Given the description of an element on the screen output the (x, y) to click on. 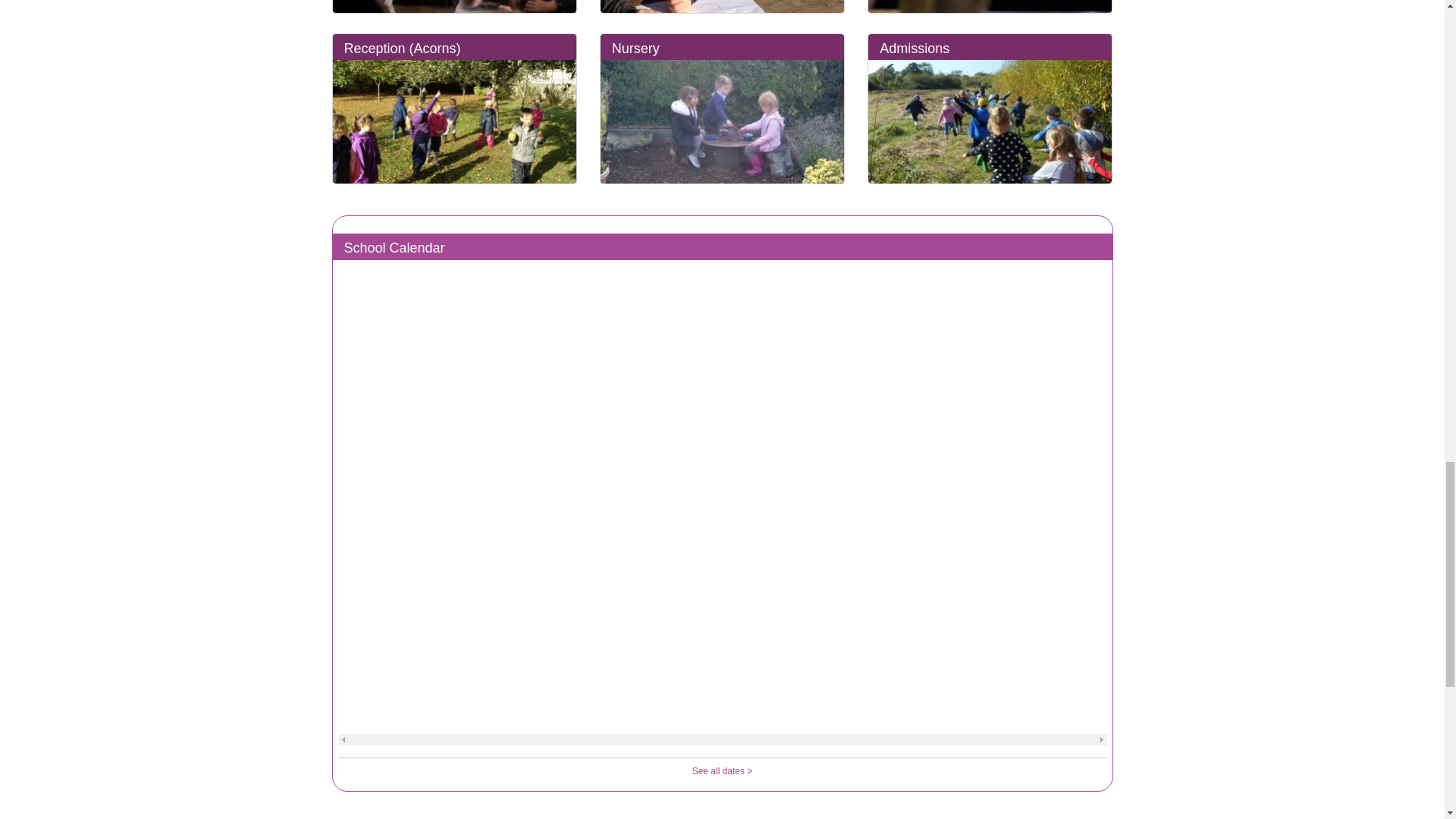
Year 6 (989, 6)
Year 5 (721, 6)
Admissions (989, 121)
Year 4 (453, 6)
Nursery (721, 121)
